Given the description of an element on the screen output the (x, y) to click on. 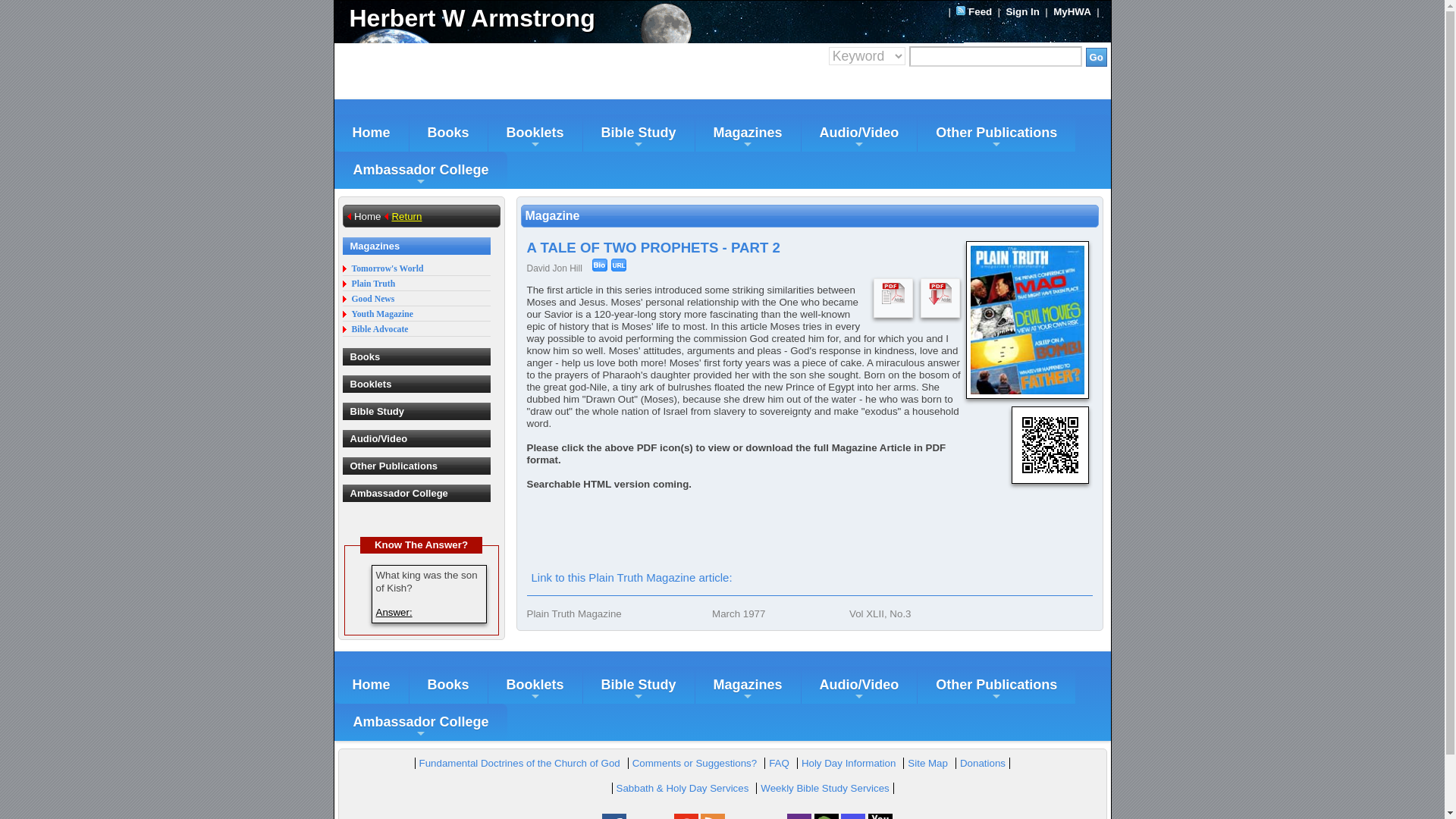
Link to this Plain Truth Magazine article: (630, 577)
Bible Study (638, 132)
Magazines (747, 132)
Click here to link to this Plain Truth Magazine article. (618, 264)
Sign In (1022, 11)
Go (1096, 56)
Herbert W Armstrong Library (528, 18)
